Given the description of an element on the screen output the (x, y) to click on. 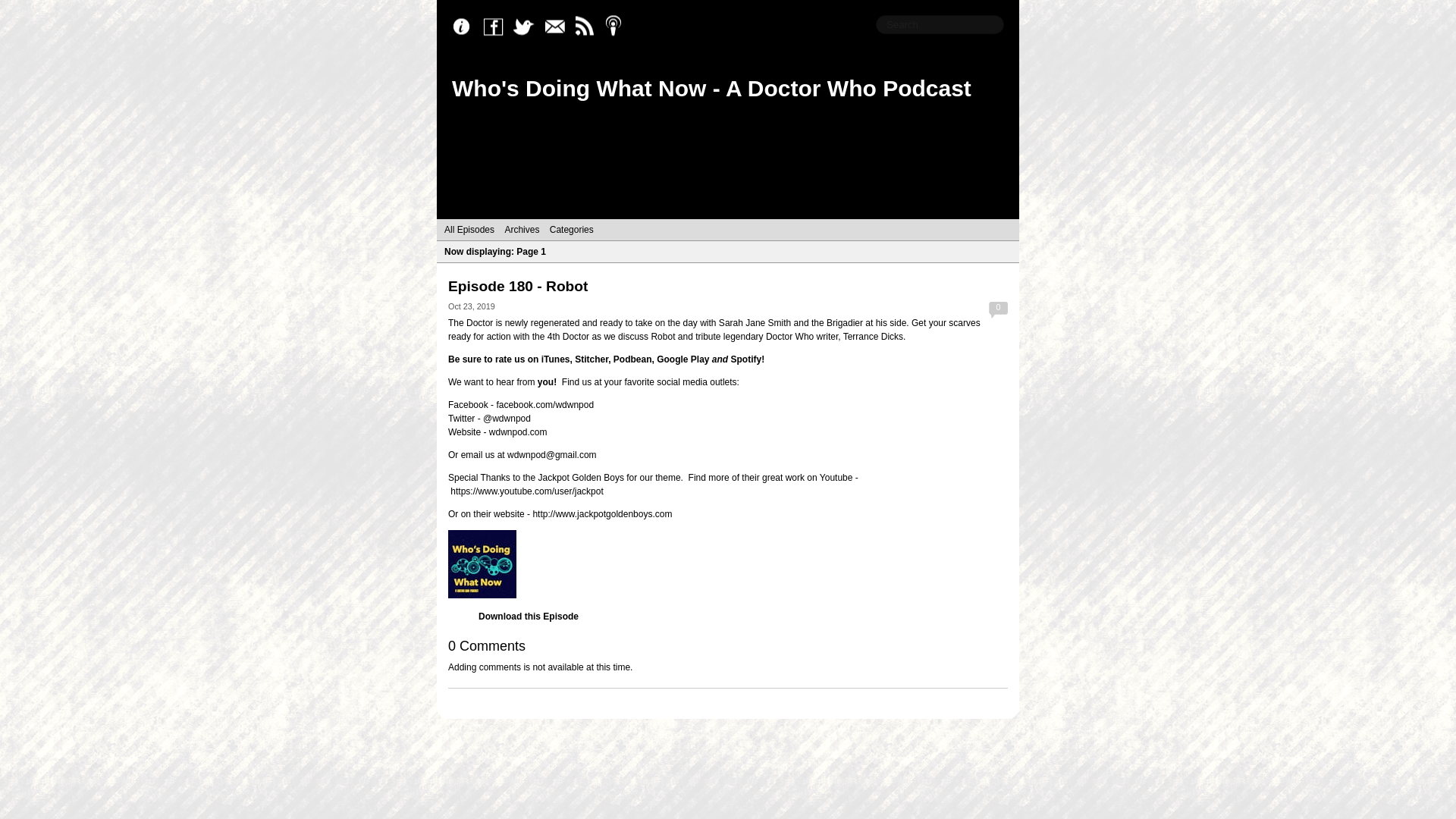
Facebook (496, 26)
Who's Doing What Now - A Doctor Who Podcast (711, 88)
RSS Feed (588, 26)
Email (558, 26)
Libsyn Player (727, 563)
Twitter (527, 26)
Subscribe in Apple Podcasts (618, 26)
